Given the description of an element on the screen output the (x, y) to click on. 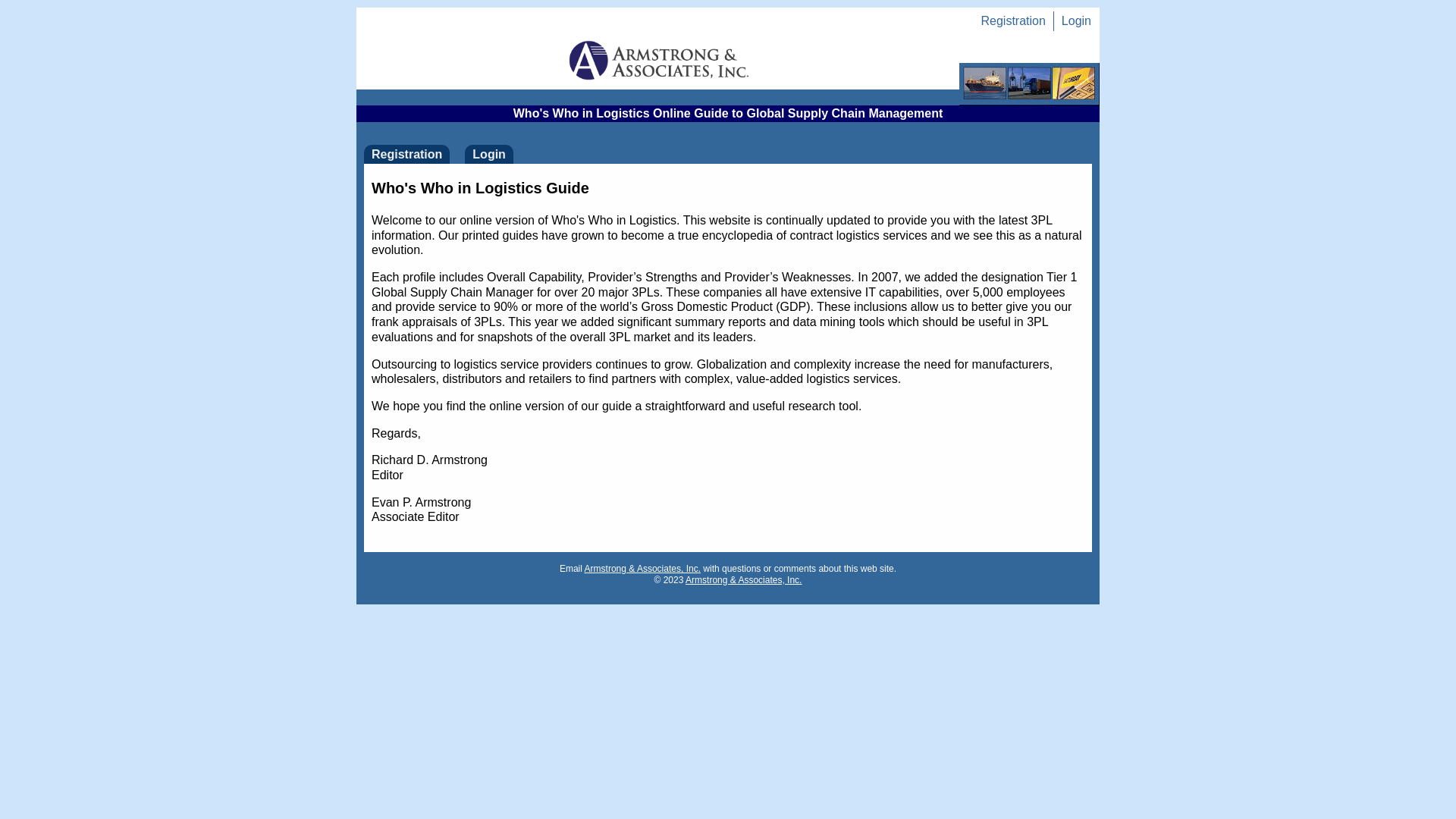
Armstrong & Associates, Inc. Element type: text (743, 579)
Armstrong & Associates, Inc. Element type: text (642, 568)
Registration Element type: text (406, 154)
Login Element type: text (1076, 21)
Registration Element type: text (1012, 21)
Login Element type: text (488, 154)
